Given the description of an element on the screen output the (x, y) to click on. 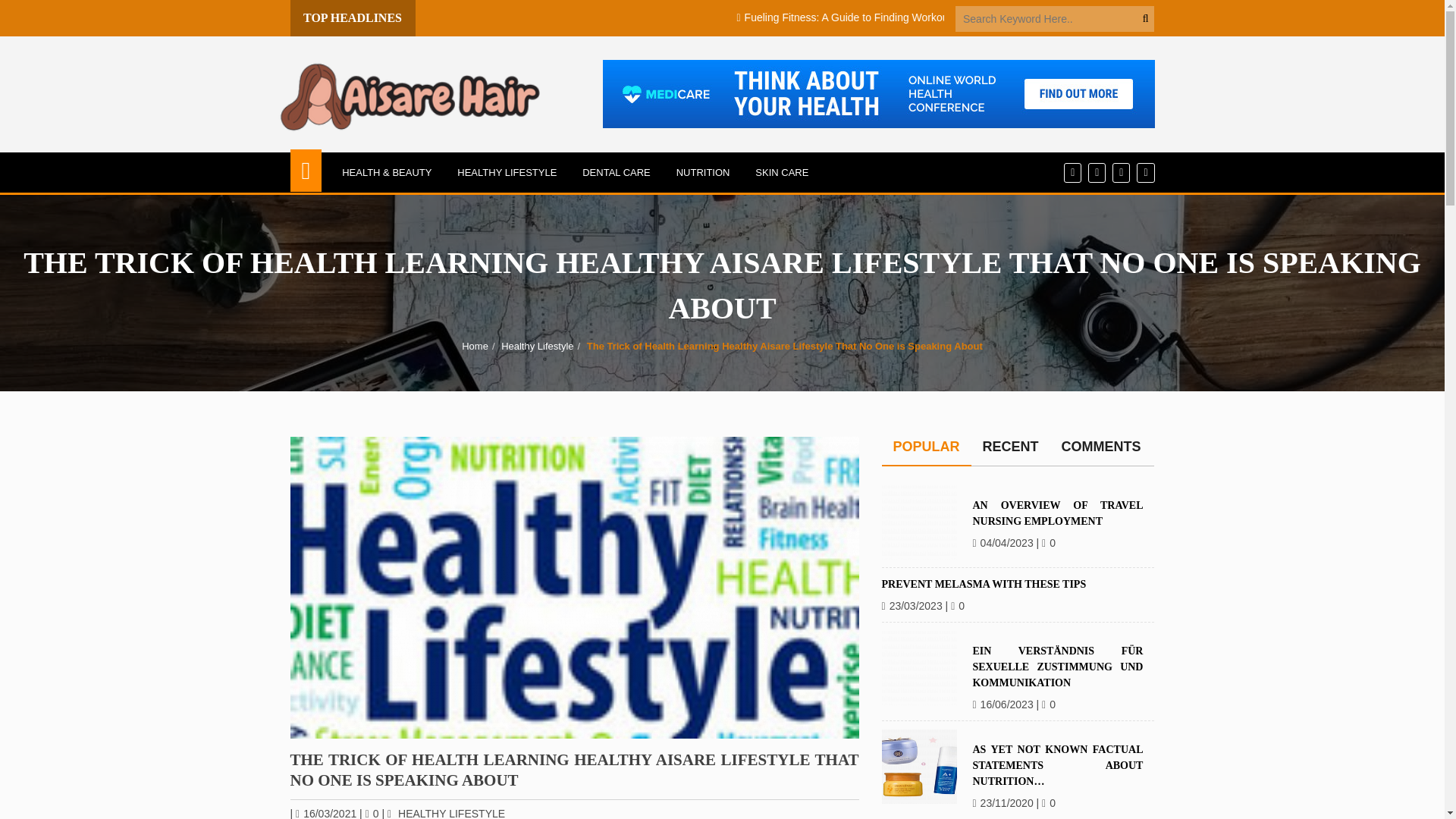
Healthy Lifestyle (536, 346)
HEALTHY LIFESTYLE (451, 813)
DENTAL CARE (616, 172)
Fueling Fitness: A Guide to Finding Workout Gear Deals (1082, 17)
Home (474, 346)
An Overview of Travel Nursing Employment (918, 522)
0 (371, 813)
HEALTHY LIFESTYLE (506, 172)
